Given the description of an element on the screen output the (x, y) to click on. 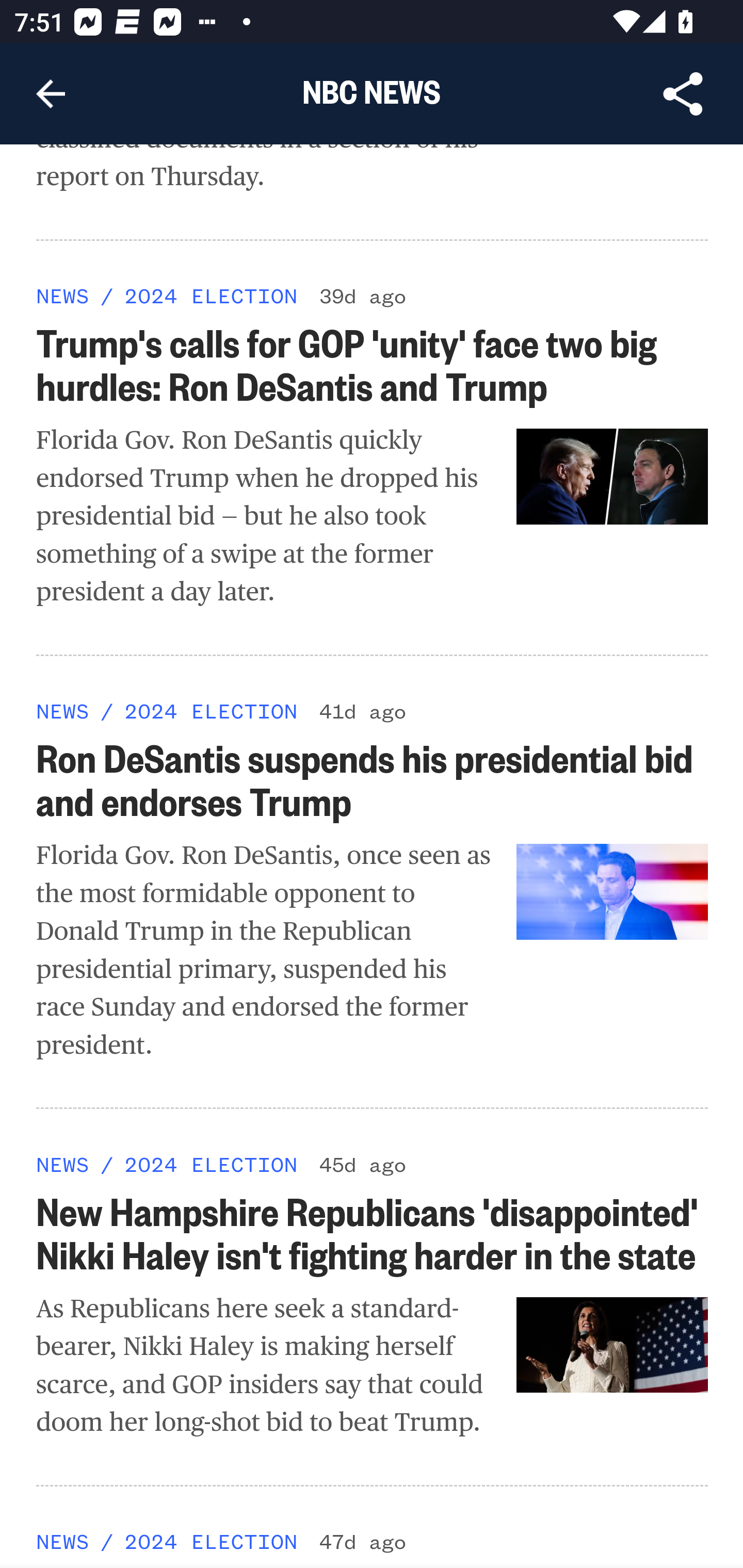
Navigate up (50, 93)
Share Article, button (683, 94)
NEWS NEWS NEWS (63, 296)
2024 ELECTION 2024 ELECTION 2024 ELECTION (209, 296)
NEWS (63, 712)
2024 ELECTION 2024 ELECTION 2024 ELECTION (209, 712)
NEWS NEWS NEWS (63, 1164)
2024 ELECTION 2024 ELECTION 2024 ELECTION (209, 1164)
NEWS (63, 1542)
2024 ELECTION (209, 1542)
